Given the description of an element on the screen output the (x, y) to click on. 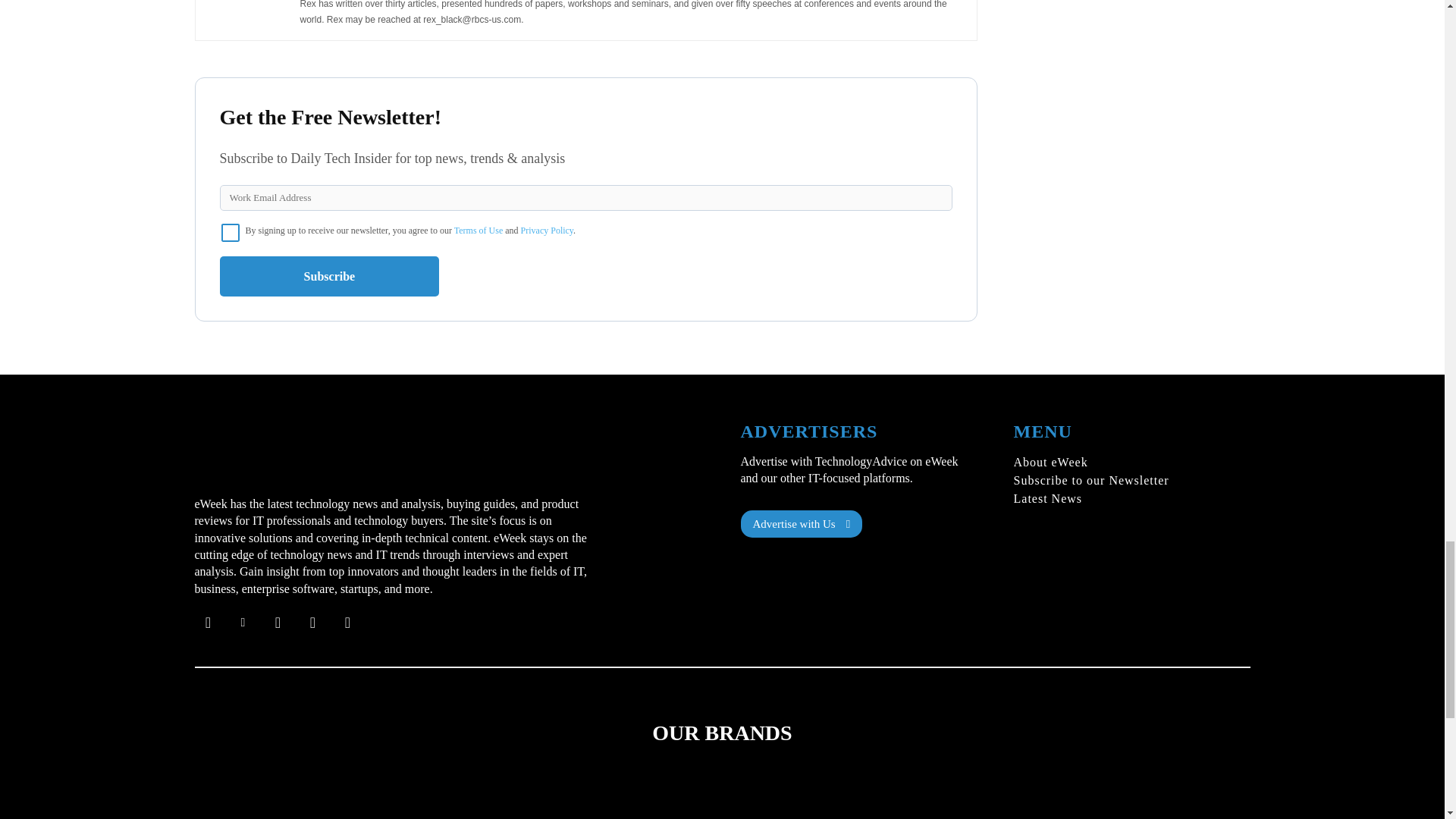
on (230, 232)
